Given the description of an element on the screen output the (x, y) to click on. 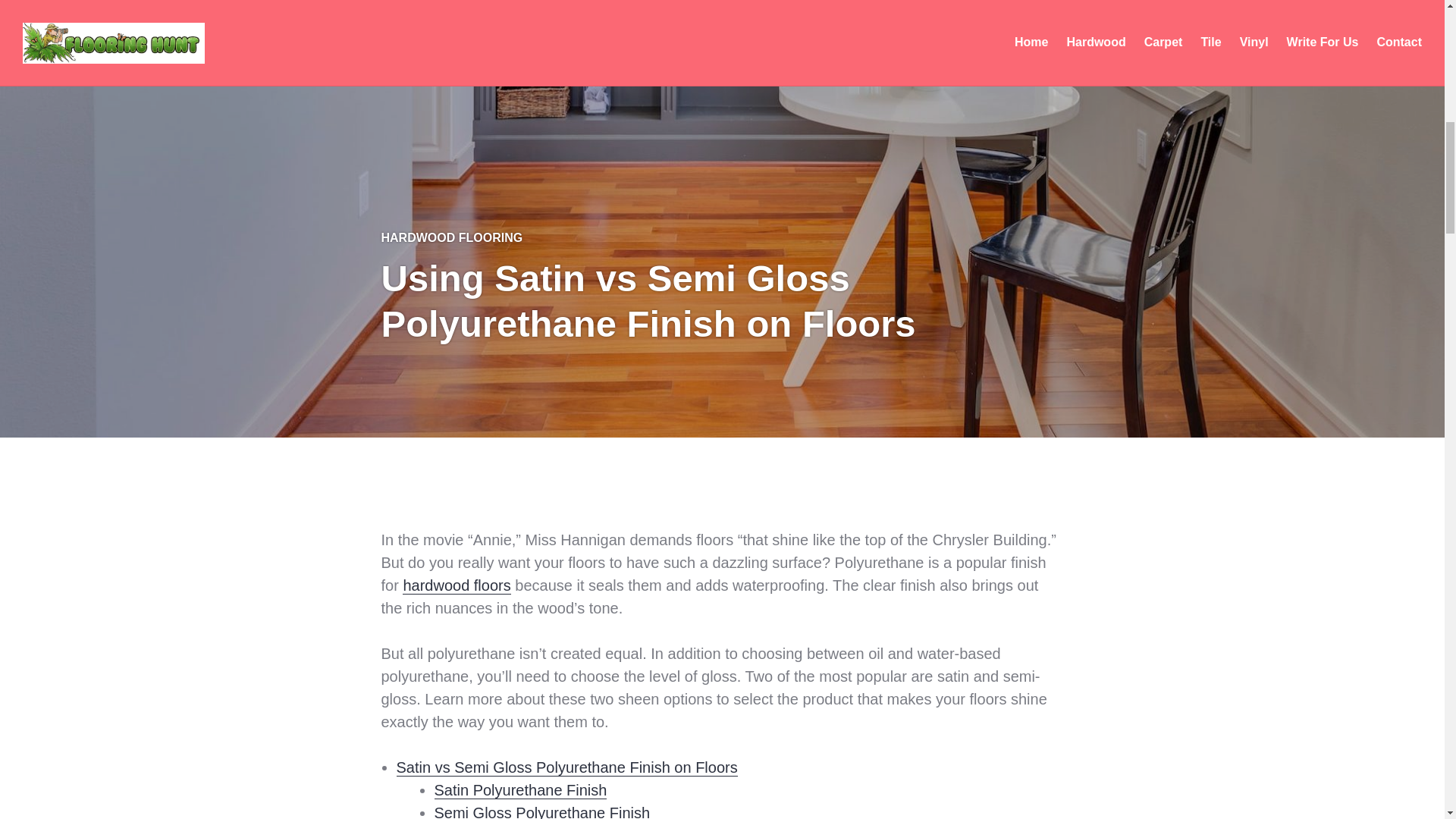
hardwood floors (457, 585)
Semi Gloss Polyurethane Finish (541, 811)
Satin Polyurethane Finish (520, 790)
HARDWOOD FLOORING (451, 237)
Satin vs Semi Gloss Polyurethane Finish on Floors (566, 767)
